Given the description of an element on the screen output the (x, y) to click on. 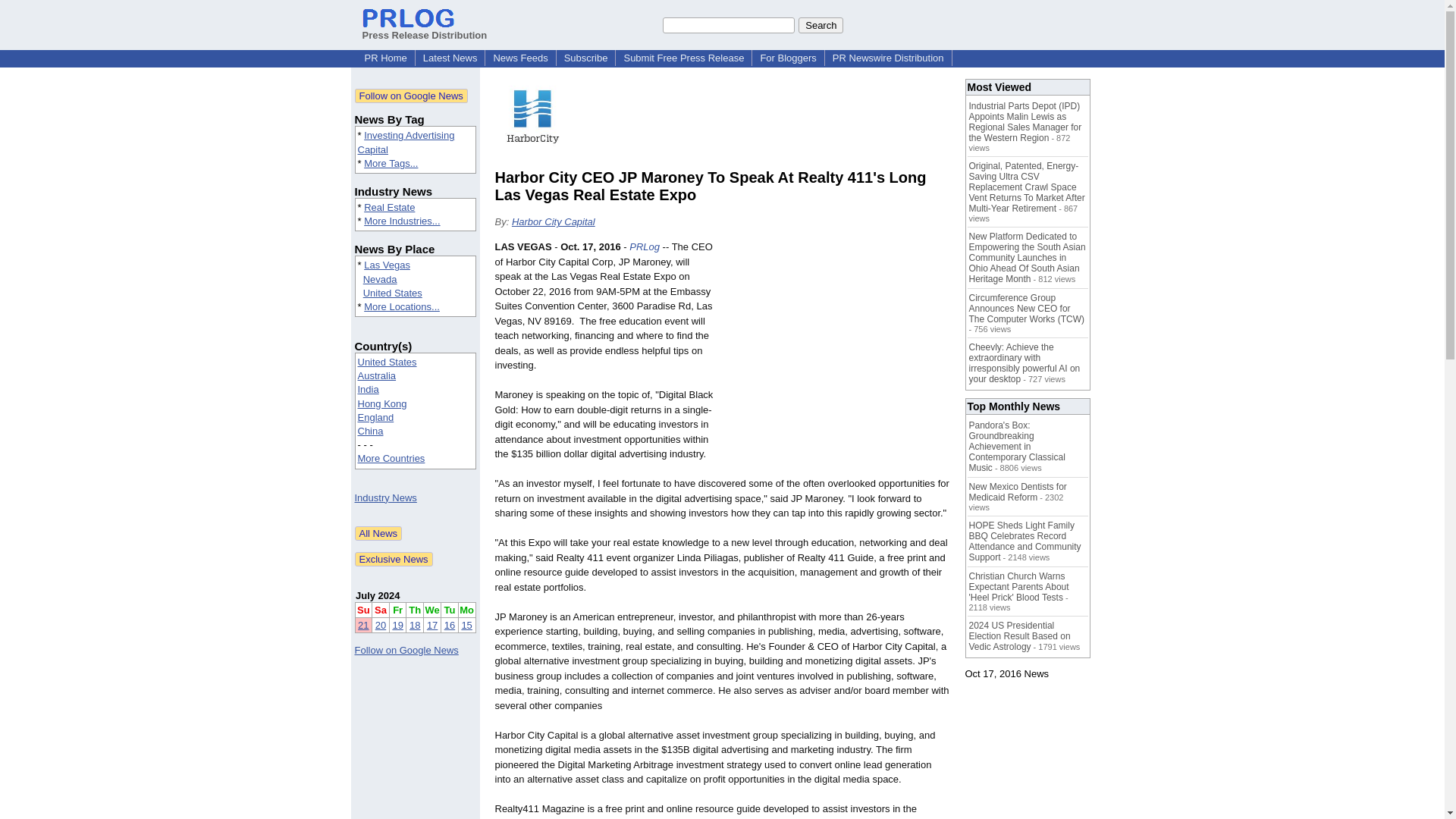
All News (379, 533)
United States (392, 292)
Hong Kong (382, 403)
Harbor City Capital (553, 221)
England (376, 417)
India (368, 389)
Investing Advertising Capital (406, 141)
Search (820, 24)
19 (397, 624)
Press Release Distribution (424, 29)
Industry News (385, 497)
More Tags... (390, 163)
Las Vegas (387, 265)
Follow on Google News (406, 650)
Australia (377, 375)
